Given the description of an element on the screen output the (x, y) to click on. 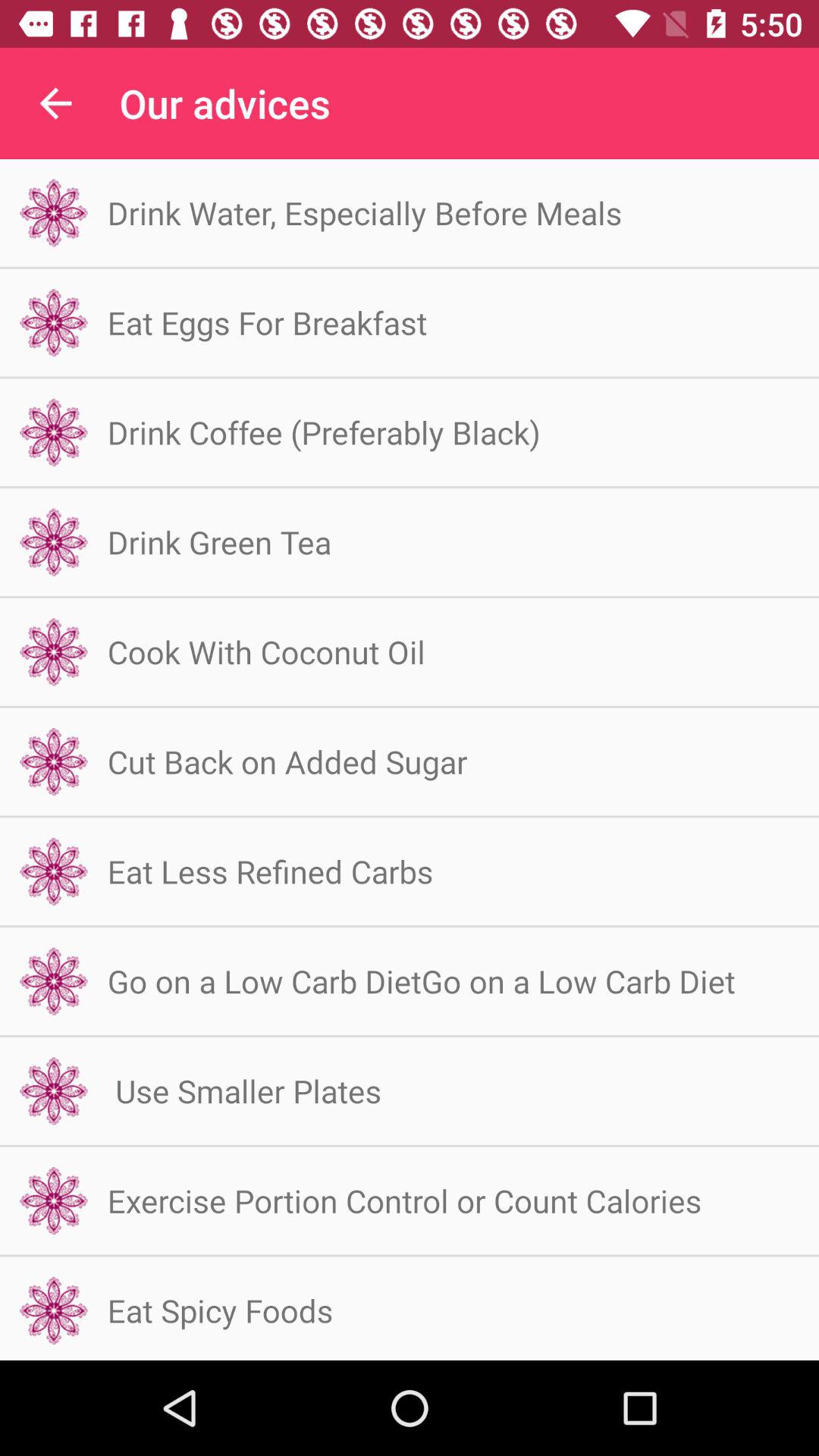
scroll to the cut back on icon (287, 761)
